Given the description of an element on the screen output the (x, y) to click on. 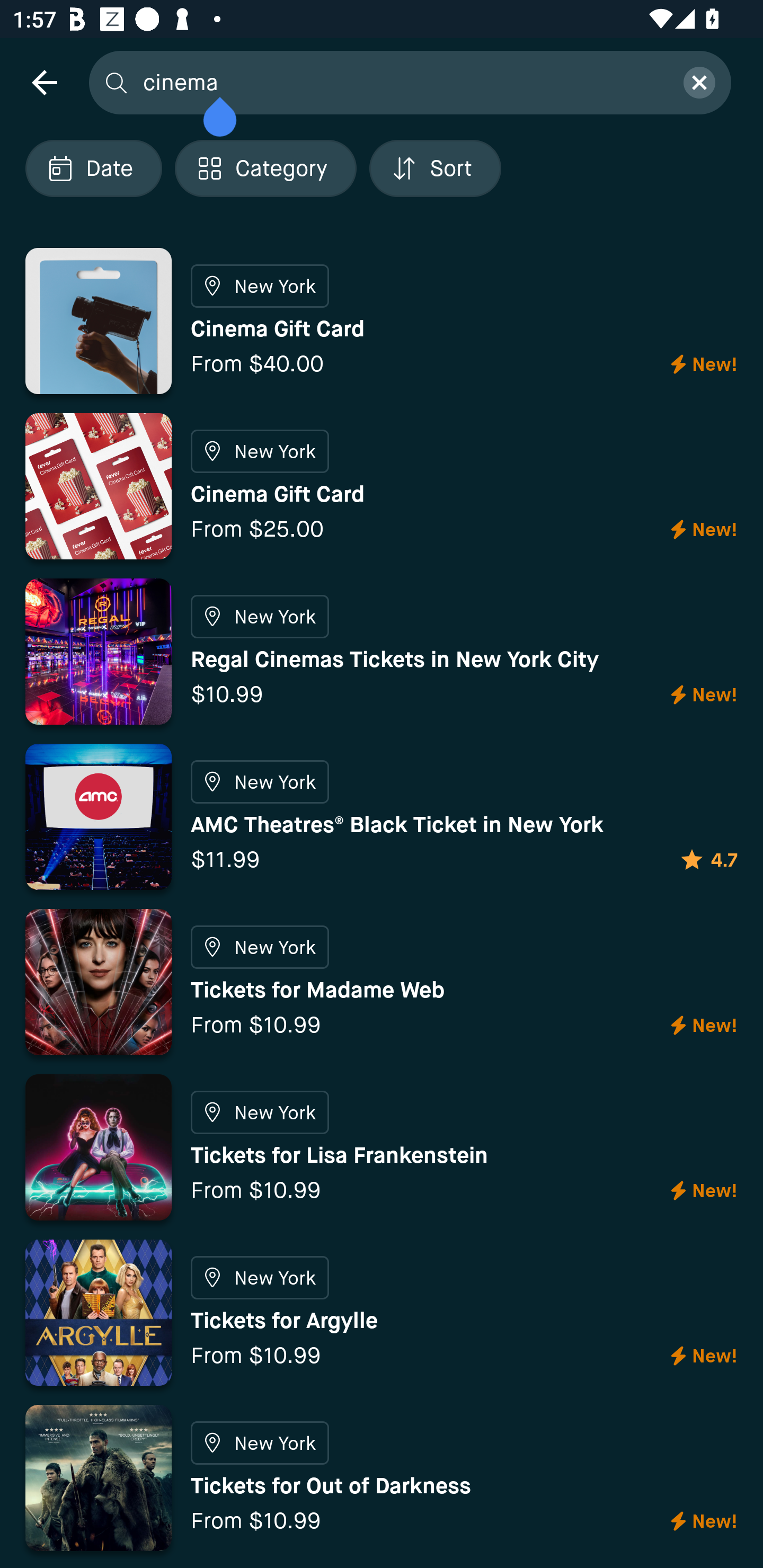
navigation icon (44, 81)
cinema (402, 81)
Localized description Date (93, 168)
Localized description Category (265, 168)
Localized description Sort (435, 168)
